Given the description of an element on the screen output the (x, y) to click on. 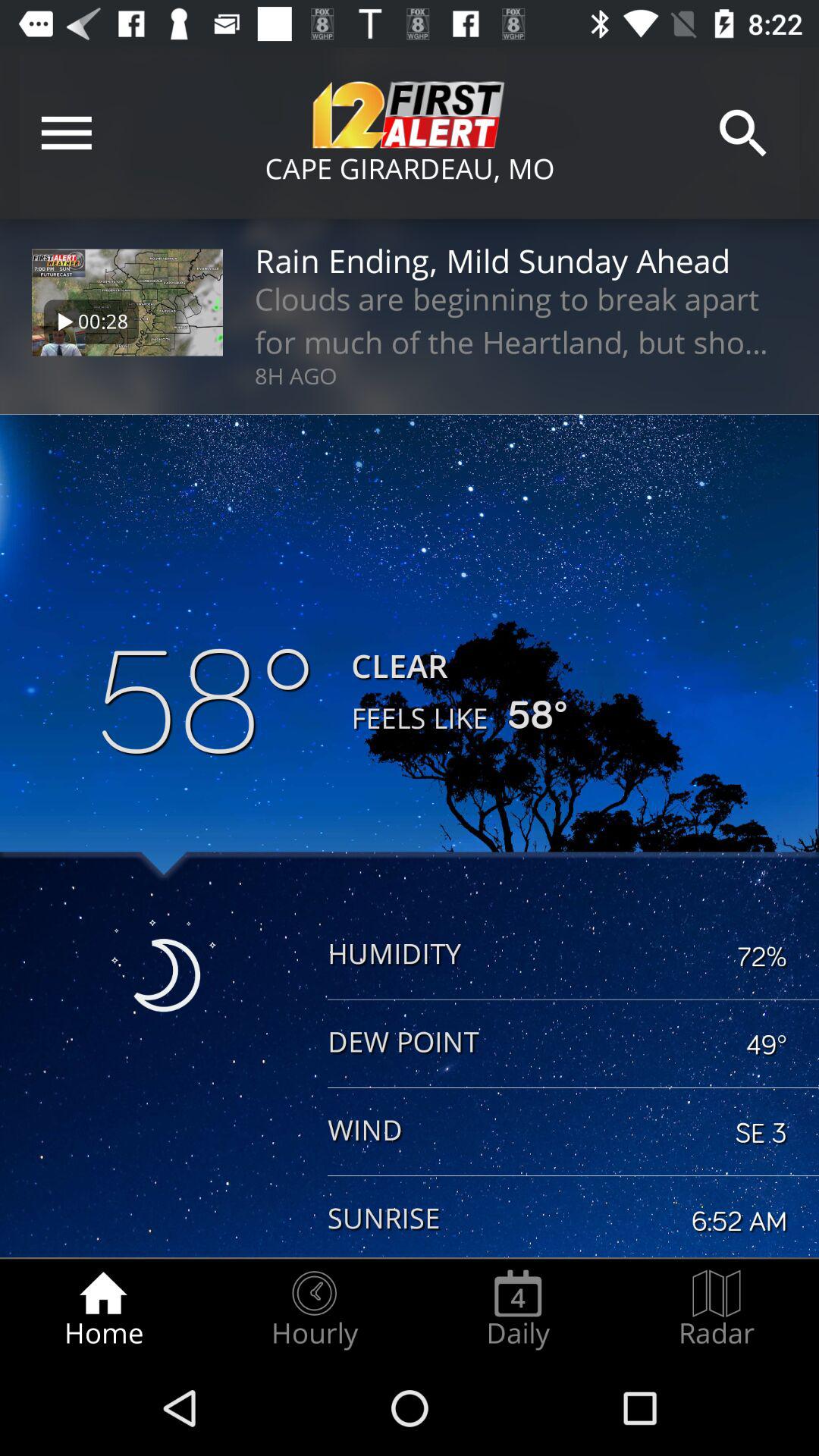
choose the daily radio button (518, 1309)
